Given the description of an element on the screen output the (x, y) to click on. 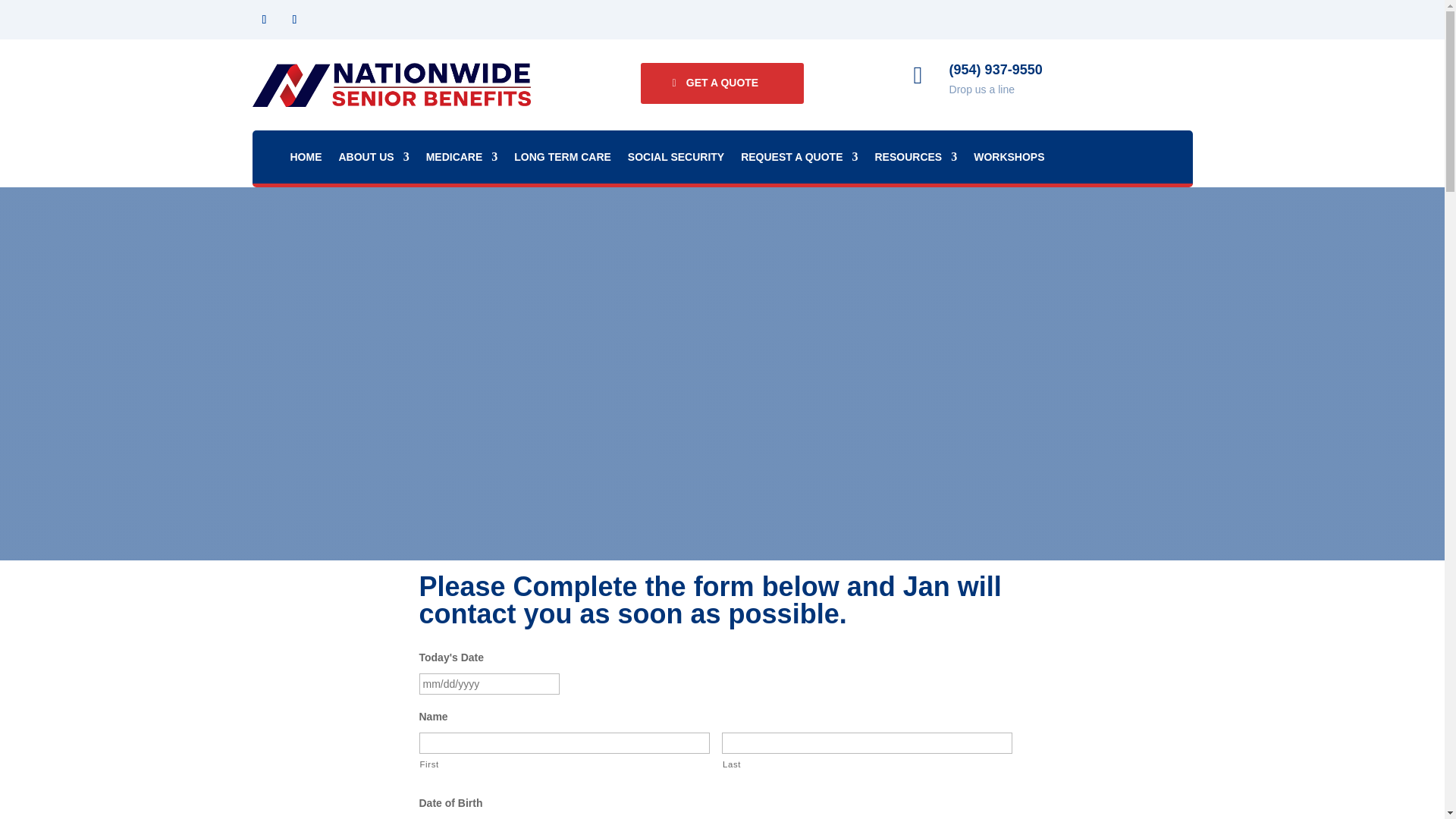
SOCIAL SECURITY (675, 159)
ABOUT US (373, 159)
MEDICARE (461, 159)
HOME (305, 159)
WORKSHOPS (1008, 159)
REQUEST A QUOTE (799, 159)
Follow on Facebook (263, 19)
Follow on LinkedIn (293, 19)
Nationwide Senior Benefits DM-3b (391, 85)
LONG TERM CARE (562, 159)
